Given the description of an element on the screen output the (x, y) to click on. 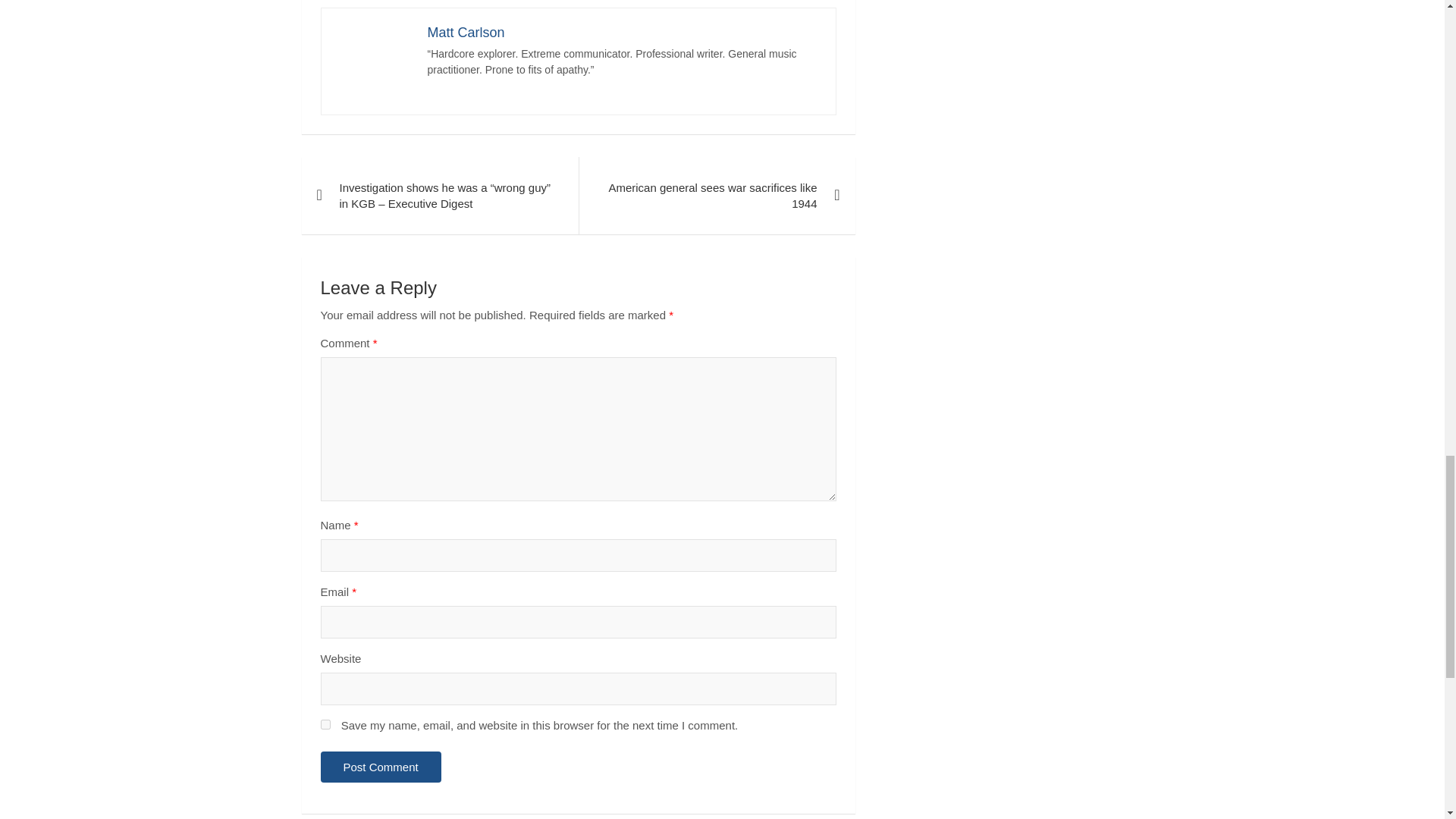
Post Comment (380, 766)
Post Comment (380, 766)
yes (325, 724)
American general sees war sacrifices like 1944 (716, 195)
Matt Carlson (466, 32)
